Given the description of an element on the screen output the (x, y) to click on. 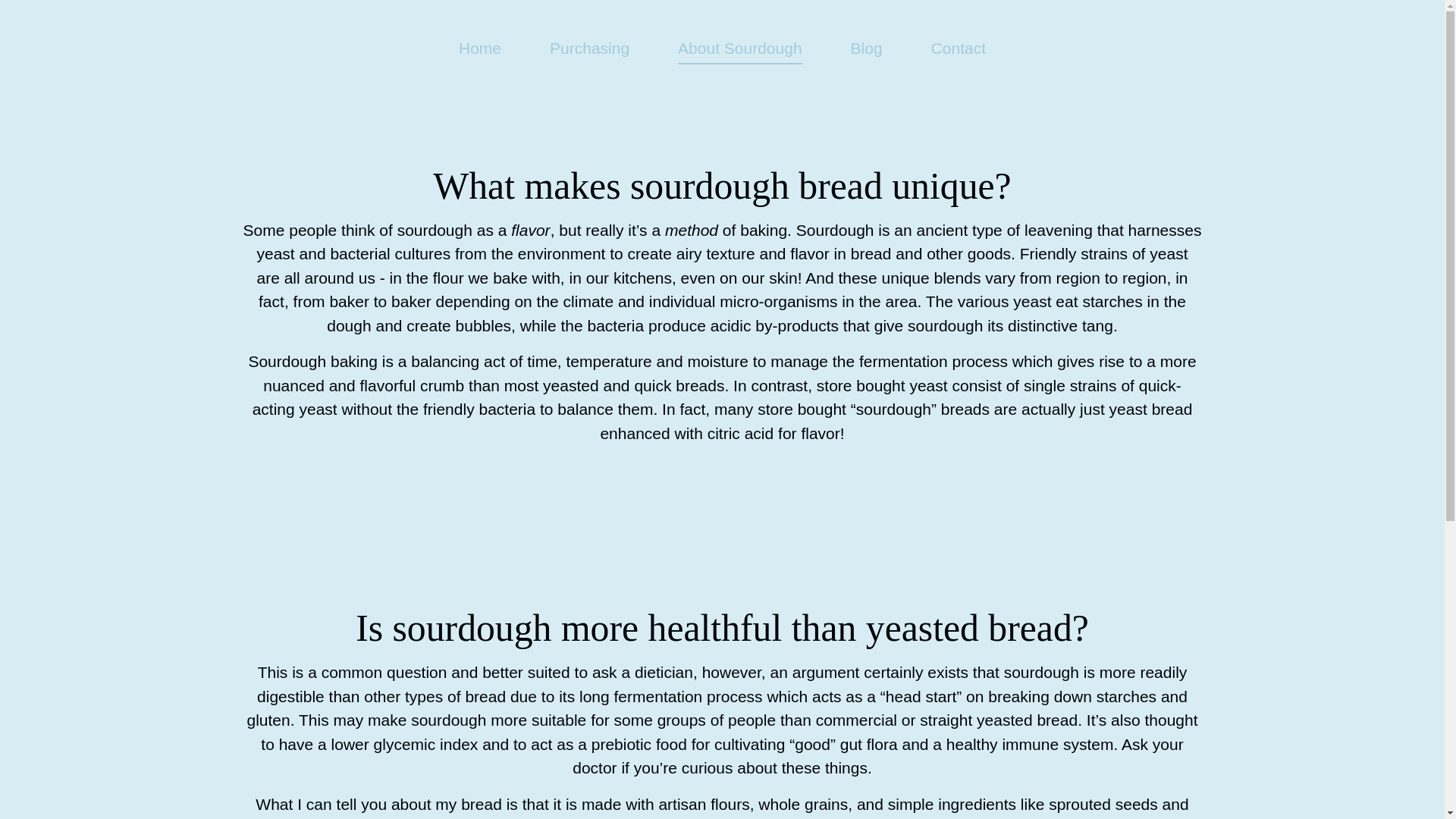
About Sourdough (740, 51)
Home (479, 47)
Blog (866, 47)
Contact (958, 47)
Purchasing (589, 47)
